Given the description of an element on the screen output the (x, y) to click on. 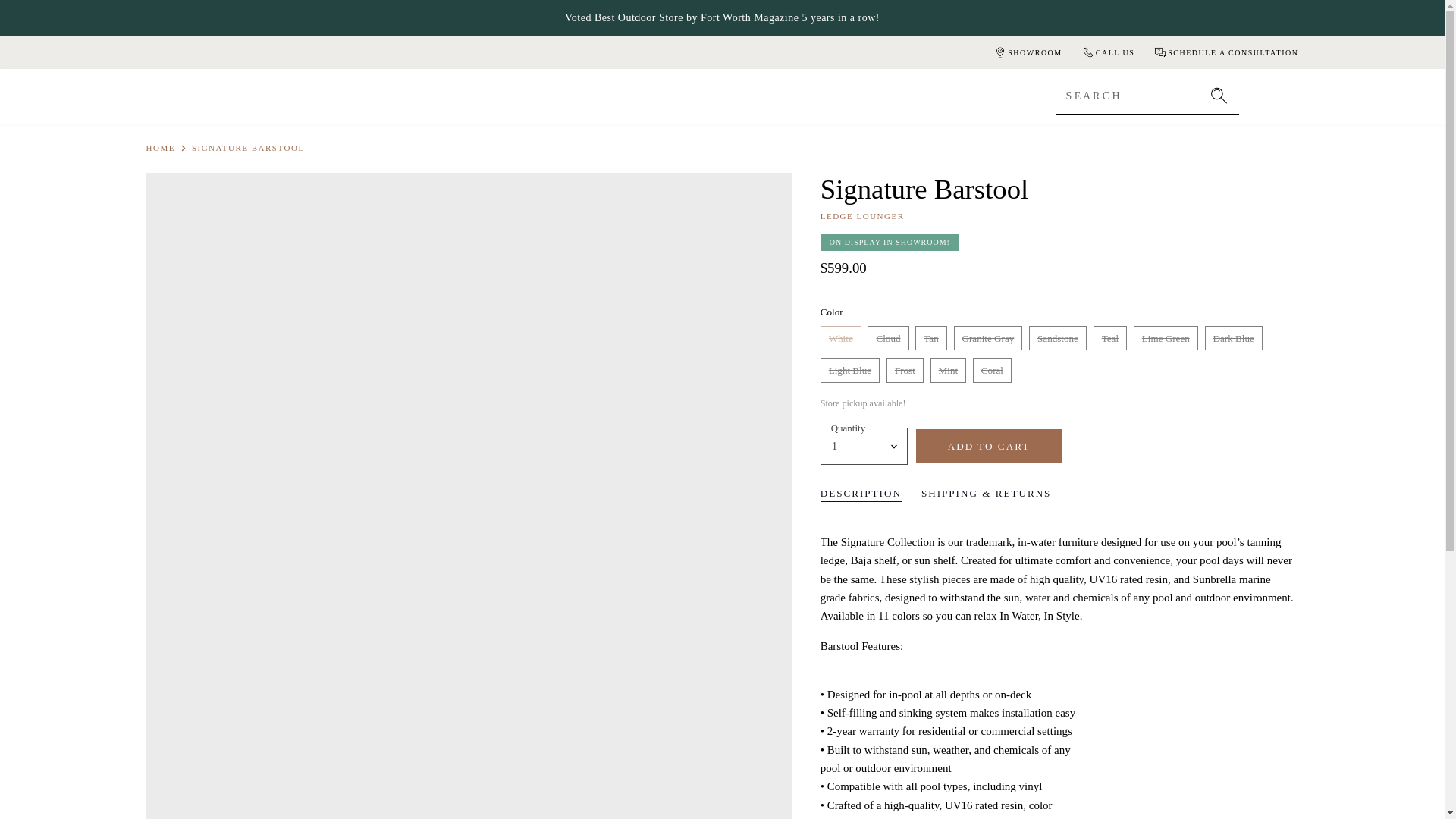
CALL US (1107, 52)
SHOWROOM (1026, 52)
Ledge Lounger (862, 215)
SCHEDULE A CONSULTATION (1225, 52)
